Given the description of an element on the screen output the (x, y) to click on. 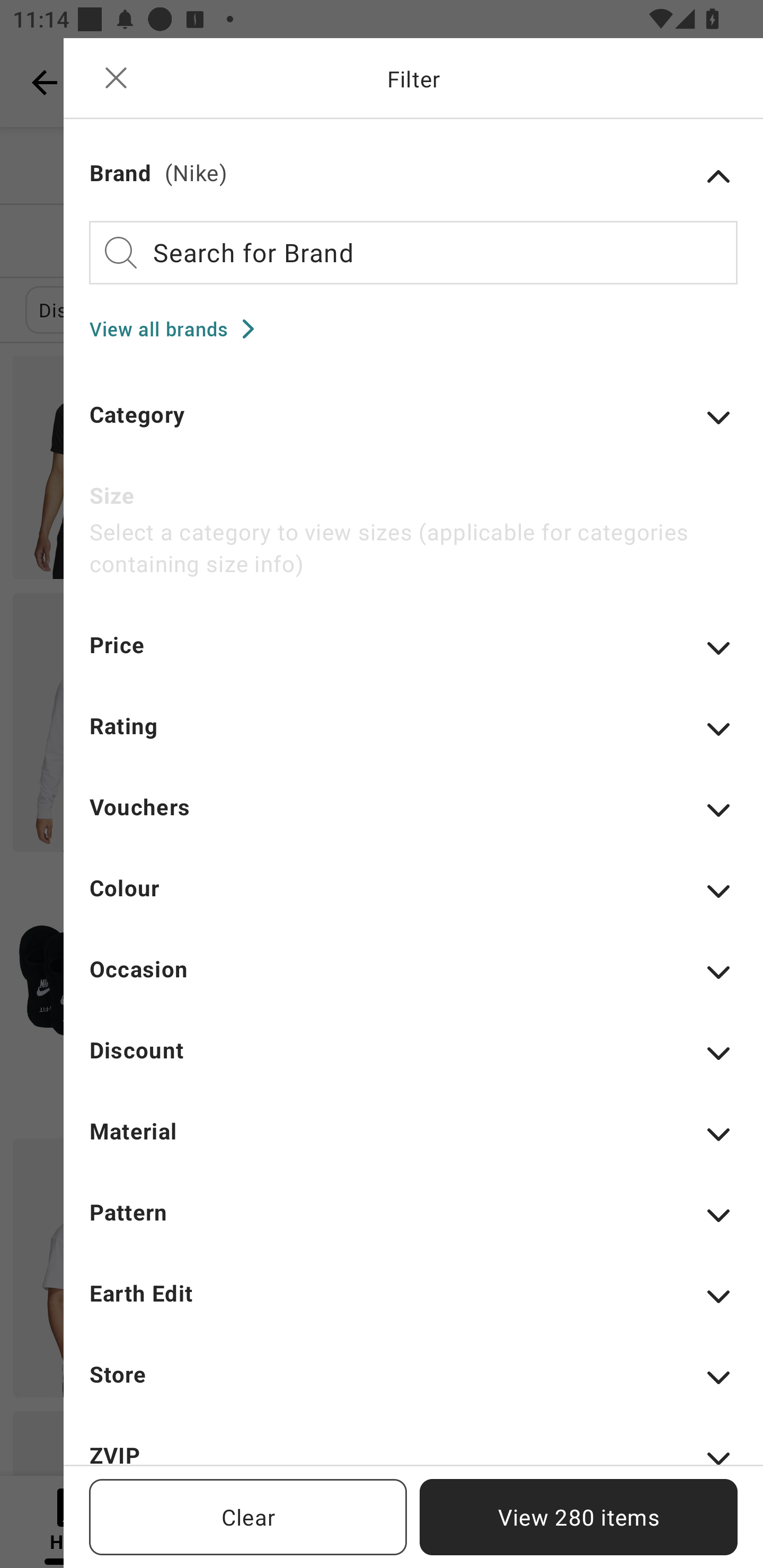
Brand (Nike) (413, 176)
Search for Brand (413, 252)
View all brands (177, 328)
Category (413, 426)
Price (413, 656)
Rating (413, 738)
Vouchers (413, 818)
Colour (413, 899)
Occasion (413, 981)
Discount (413, 1061)
Material (413, 1142)
Pattern (413, 1224)
Earth Edit (413, 1304)
Store (413, 1386)
ZVIP (413, 1451)
Clear (247, 1516)
View 280 items (578, 1516)
